Given the description of an element on the screen output the (x, y) to click on. 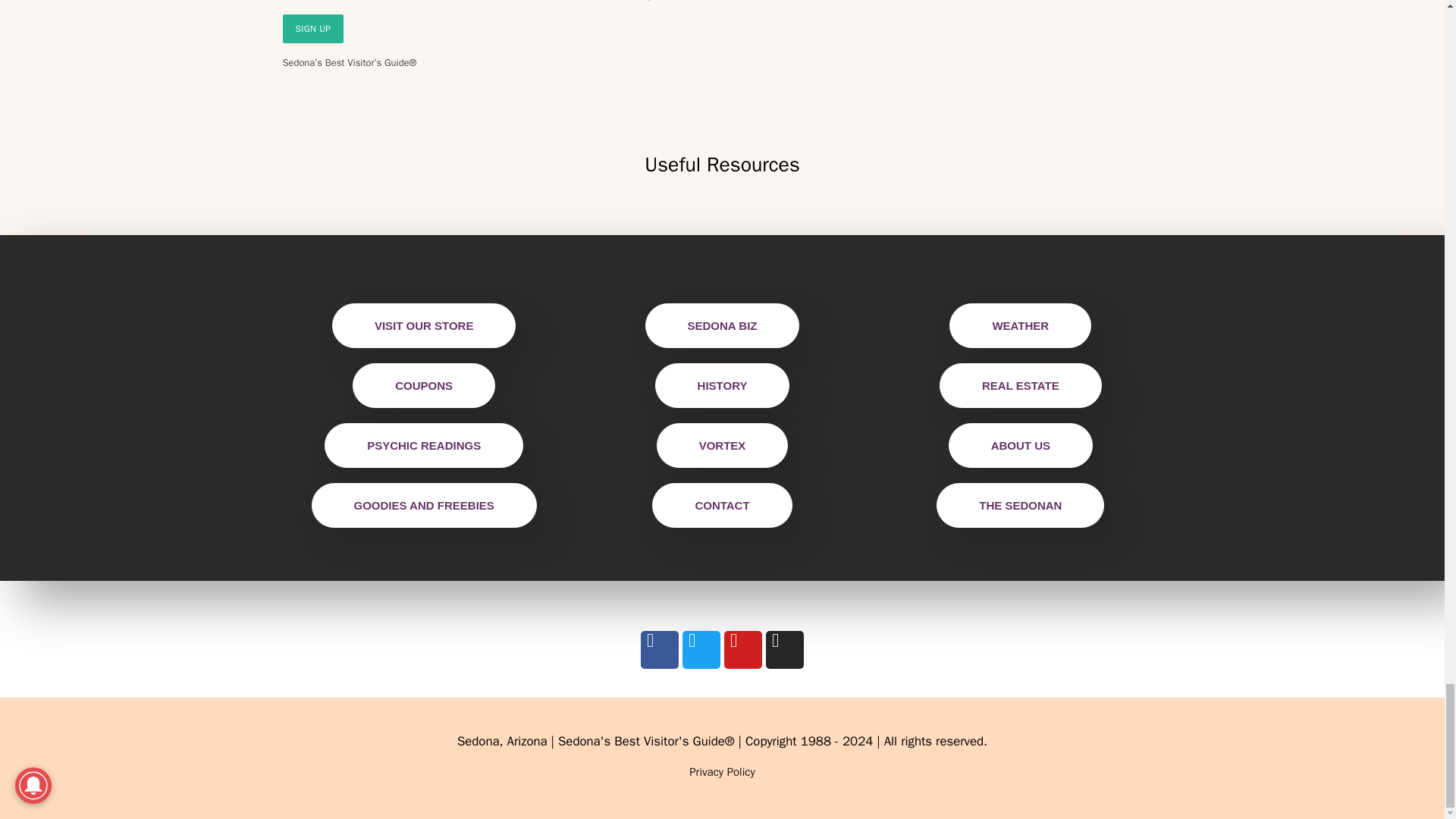
Sign up (312, 28)
